Given the description of an element on the screen output the (x, y) to click on. 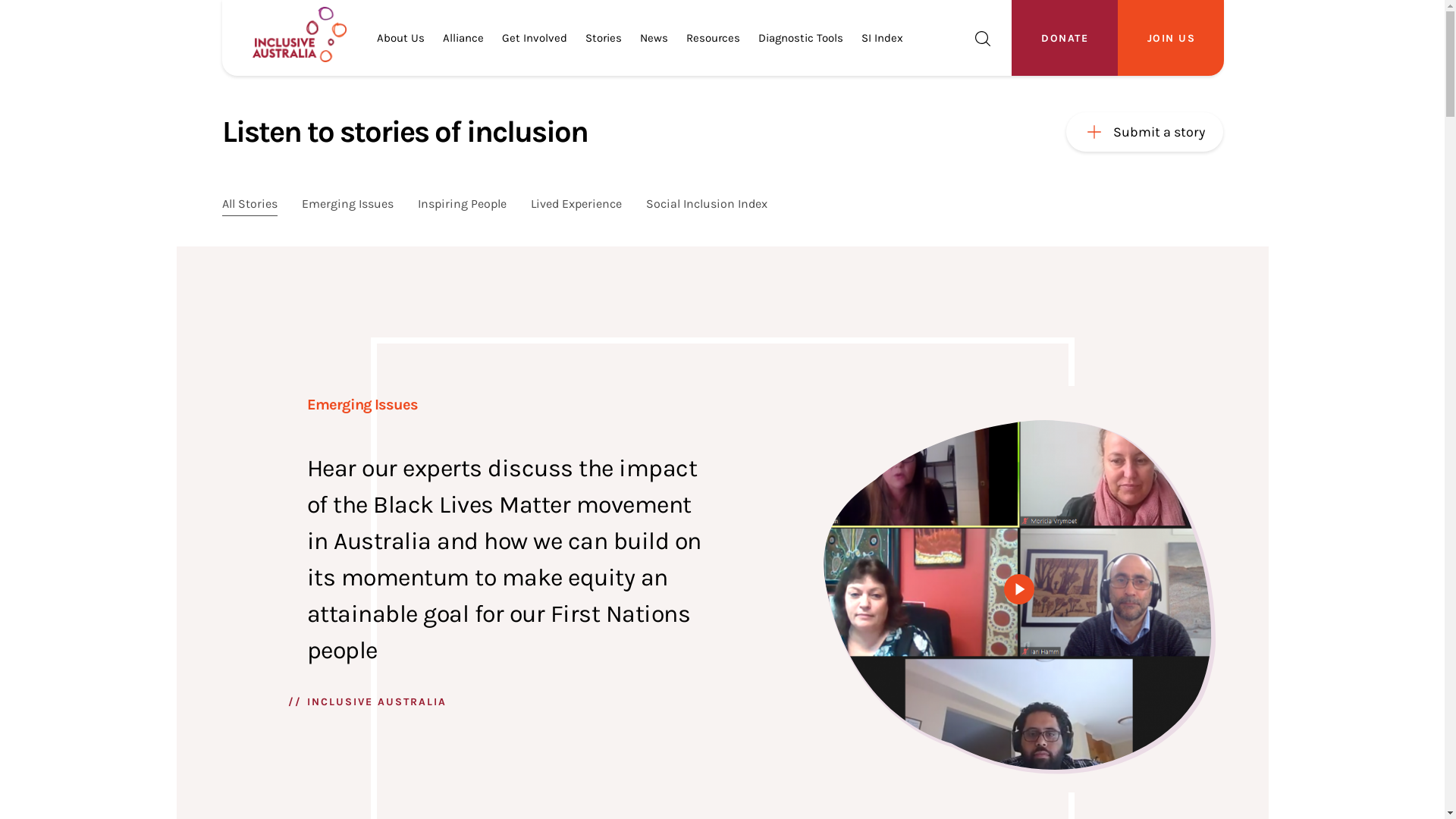
Diagnostic Tools Element type: text (800, 37)
Alliance Element type: text (462, 37)
All Stories Element type: text (248, 205)
Stories Element type: text (603, 37)
JOIN US Element type: text (1170, 37)
News Element type: text (654, 37)
Resources Element type: text (713, 37)
About Us Element type: text (400, 37)
Submit a story Element type: text (1144, 131)
Emerging Issues Element type: text (347, 205)
Social Inclusion Index Element type: text (706, 205)
Inspiring People Element type: text (461, 205)
SI Index Element type: text (882, 37)
Lived Experience Element type: text (575, 205)
DONATE Element type: text (1064, 37)
